Given the description of an element on the screen output the (x, y) to click on. 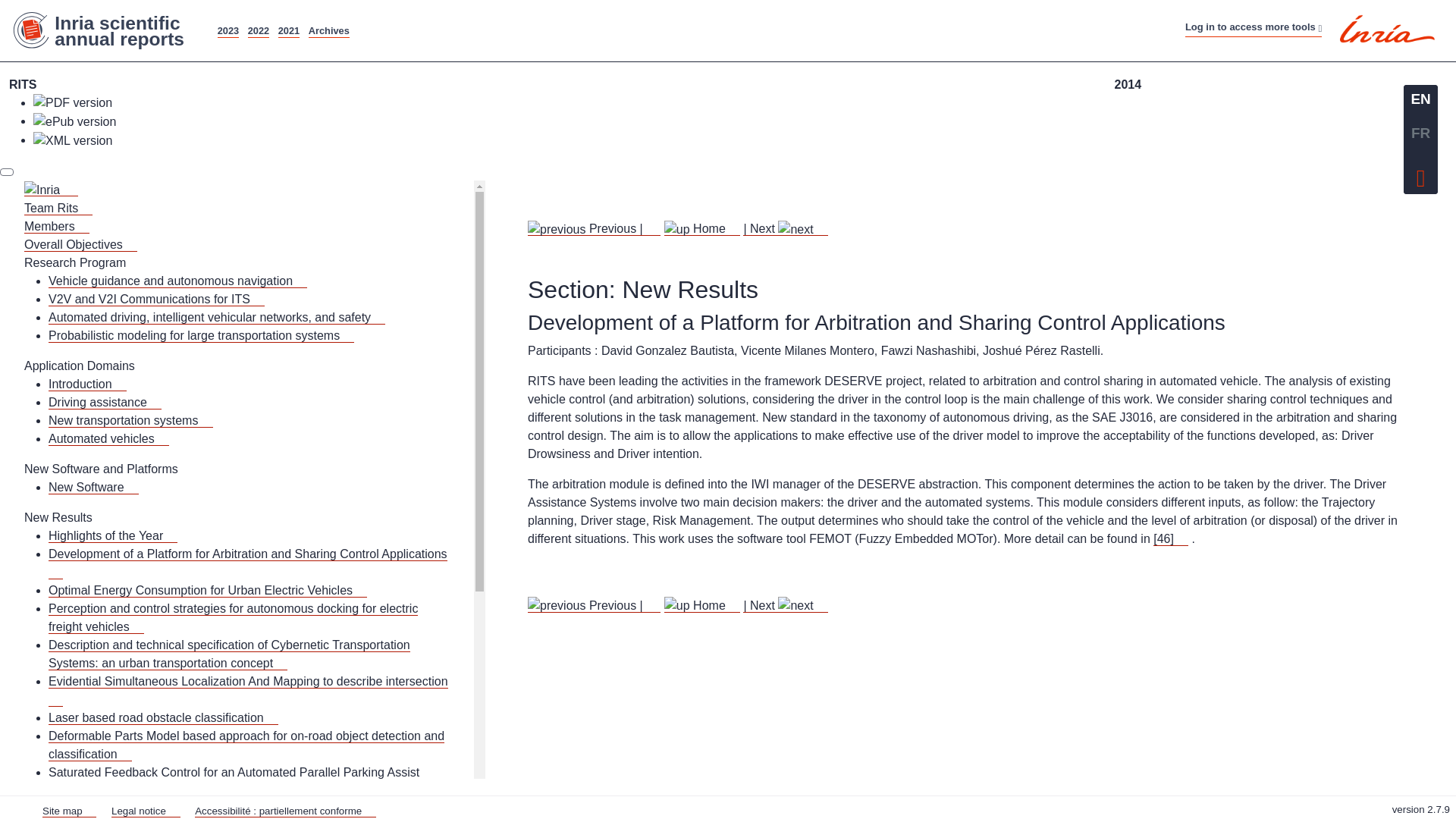
2021 annual reports (288, 30)
2021 (288, 30)
Site map (686, 9)
2023 (227, 30)
Main content (625, 9)
Current language en (1420, 99)
2023 annual reports (227, 30)
Search (804, 9)
2022 (258, 30)
FR (1420, 133)
